Given the description of an element on the screen output the (x, y) to click on. 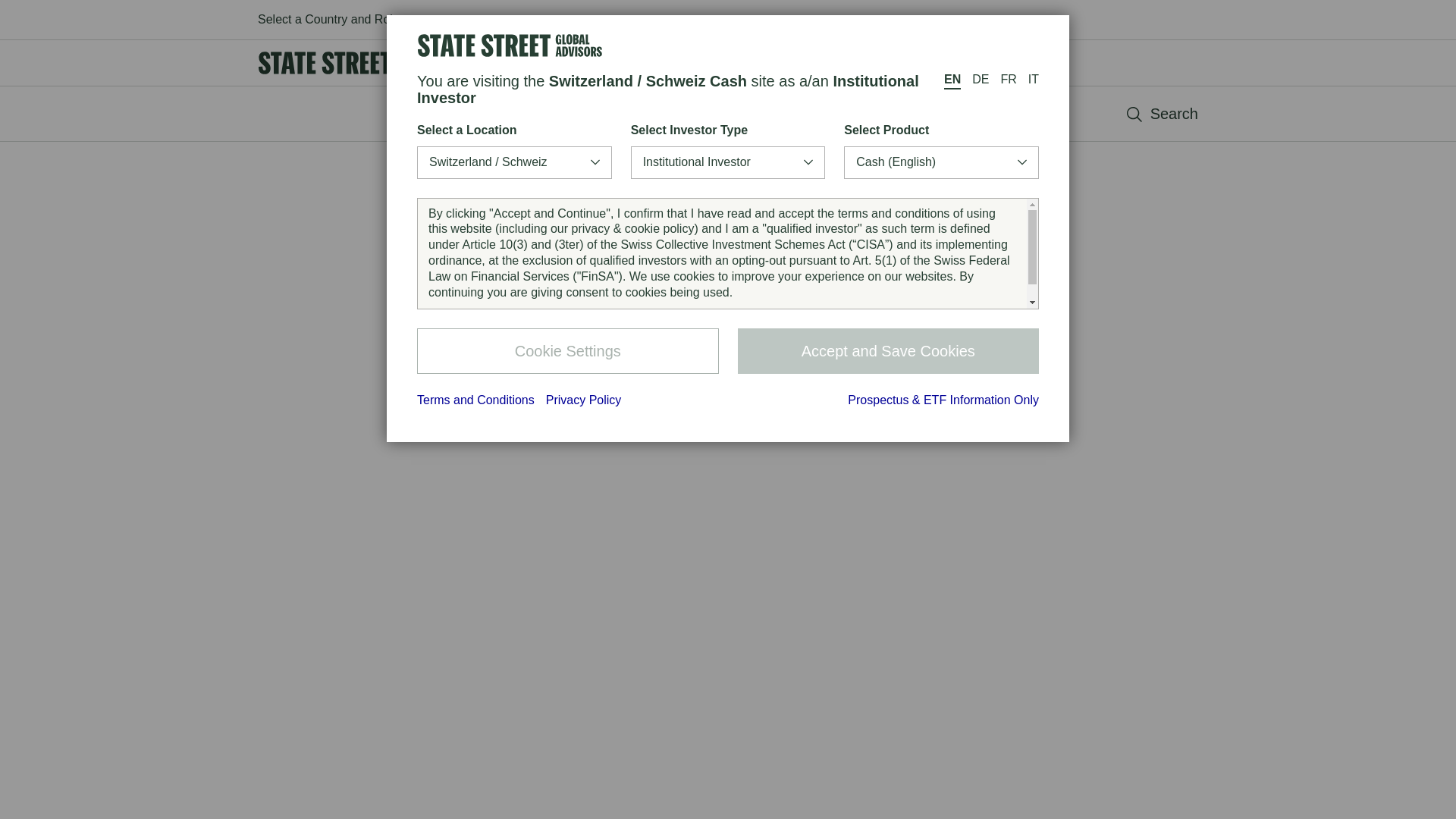
Search (1162, 112)
